Given the description of an element on the screen output the (x, y) to click on. 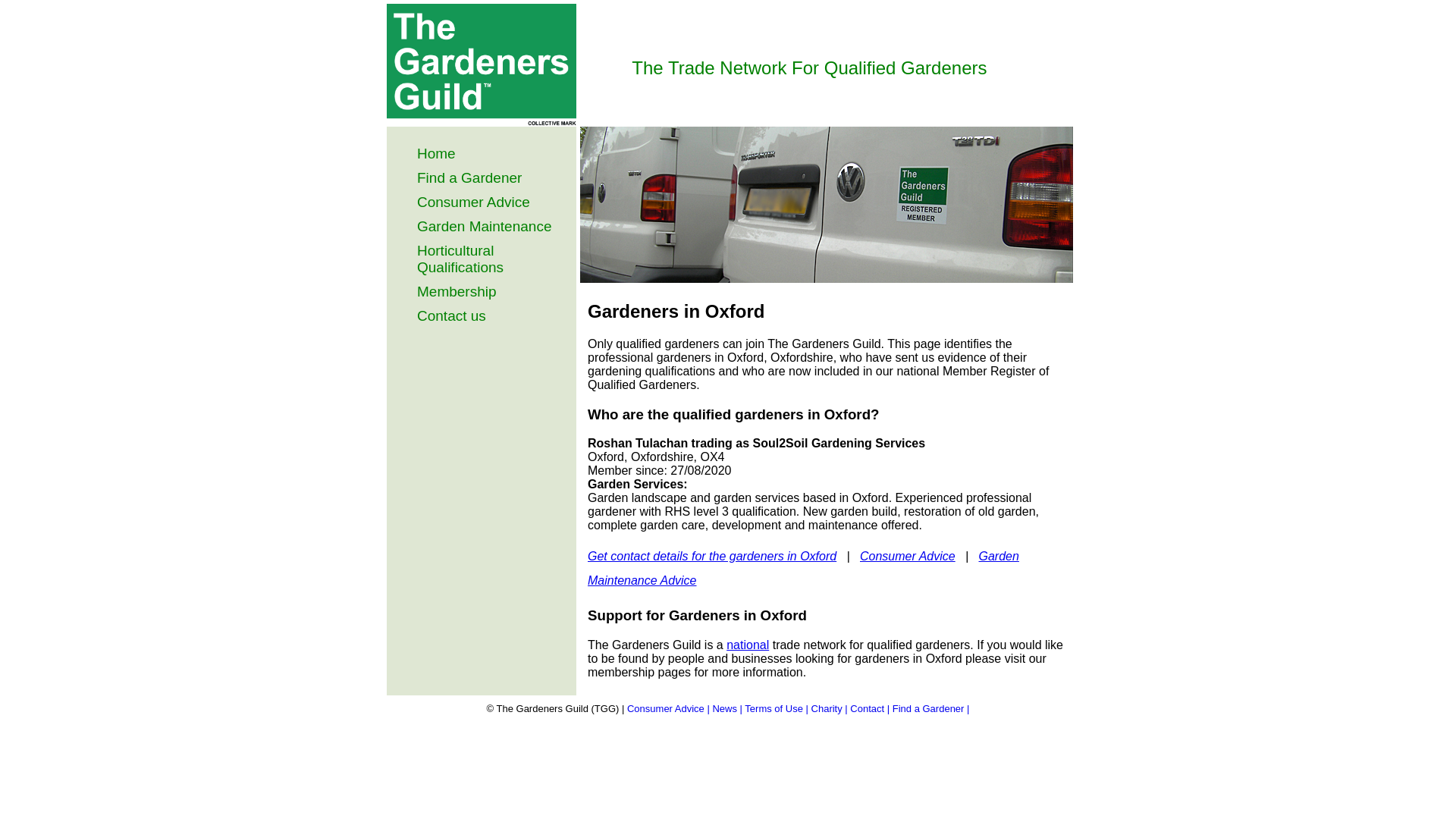
Contact us (451, 315)
Get contact details for the gardeners in Oxford (711, 555)
Horticultural Qualifications (459, 258)
national (747, 644)
Garden Maintenance Advice (803, 568)
Consumer Advice (472, 201)
Find a Gardener (468, 177)
Membership (456, 291)
Garden Maintenance (483, 226)
Consumer Advice (907, 555)
Home (435, 153)
